Given the description of an element on the screen output the (x, y) to click on. 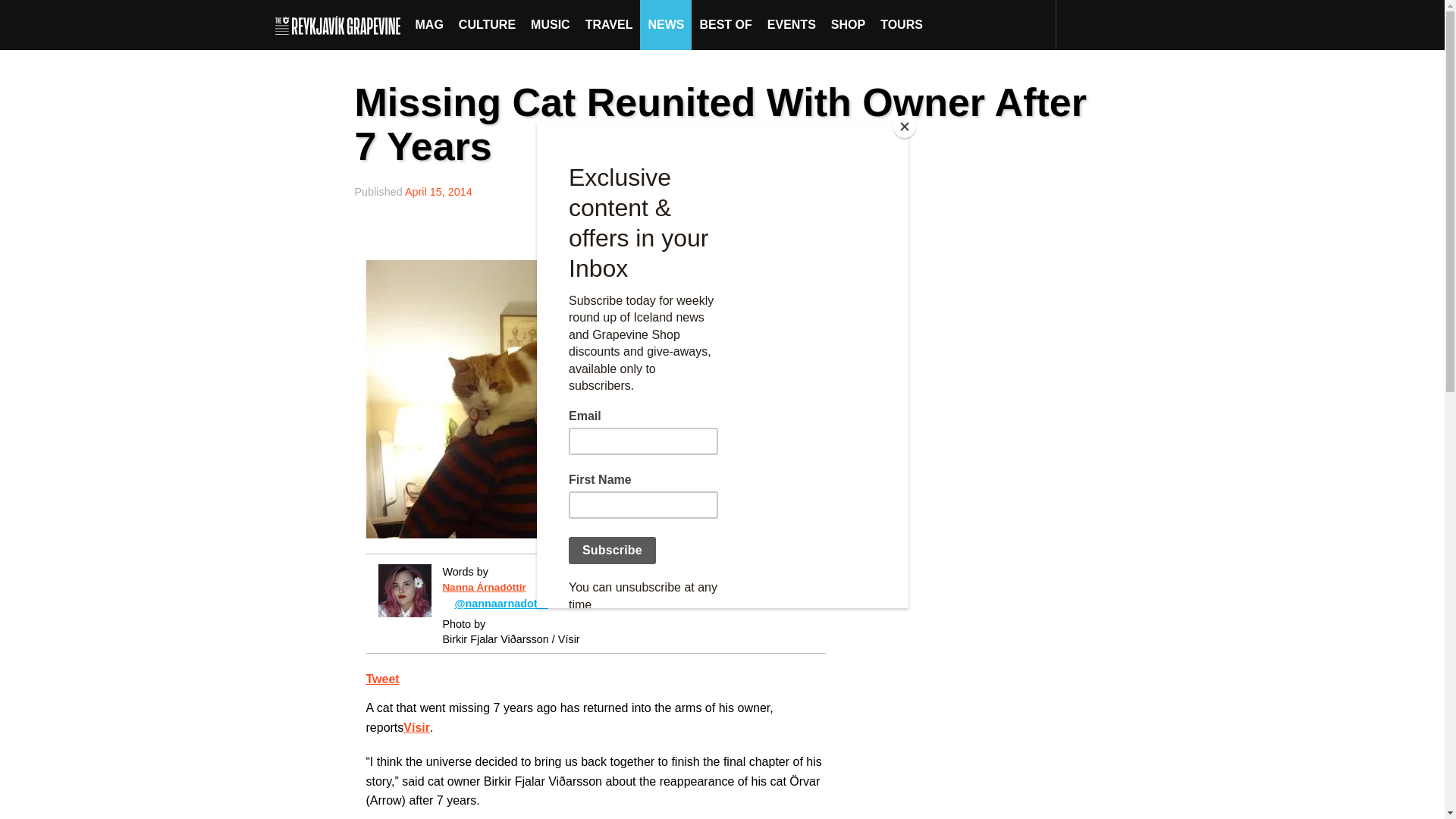
TRAVEL (609, 24)
CULTURE (486, 24)
MUSIC (550, 24)
TOURS (901, 24)
The Reykjavik Grapevine (341, 24)
NEWS (665, 24)
Tweet (381, 678)
EVENTS (792, 24)
BEST OF (724, 24)
SHOP (848, 24)
